Given the description of an element on the screen output the (x, y) to click on. 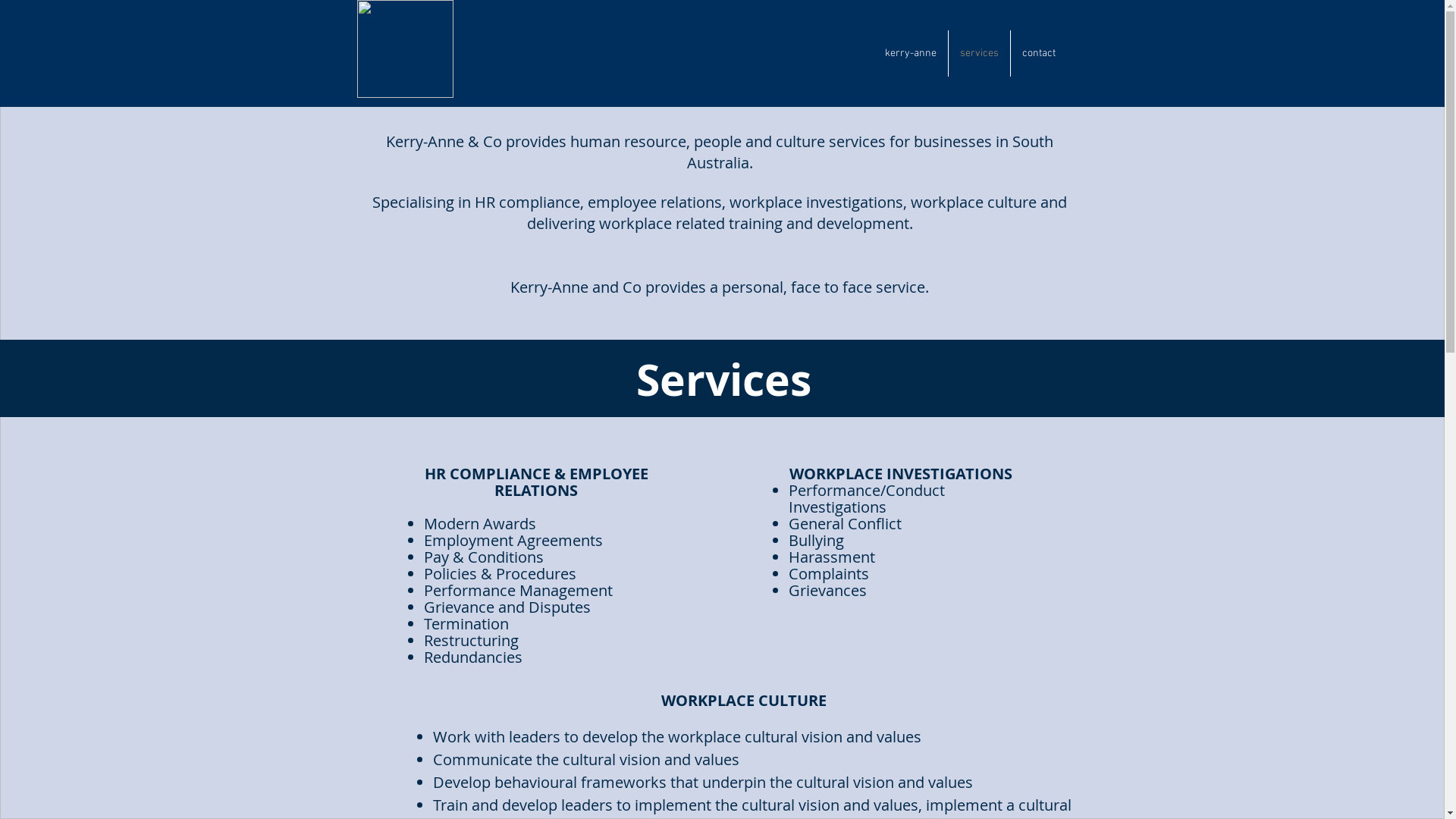
kerry-anne Element type: text (910, 53)
contact Element type: text (1038, 53)
Logo Final Artwork Transparent BG.png Element type: hover (404, 48)
services Element type: text (978, 53)
